Given the description of an element on the screen output the (x, y) to click on. 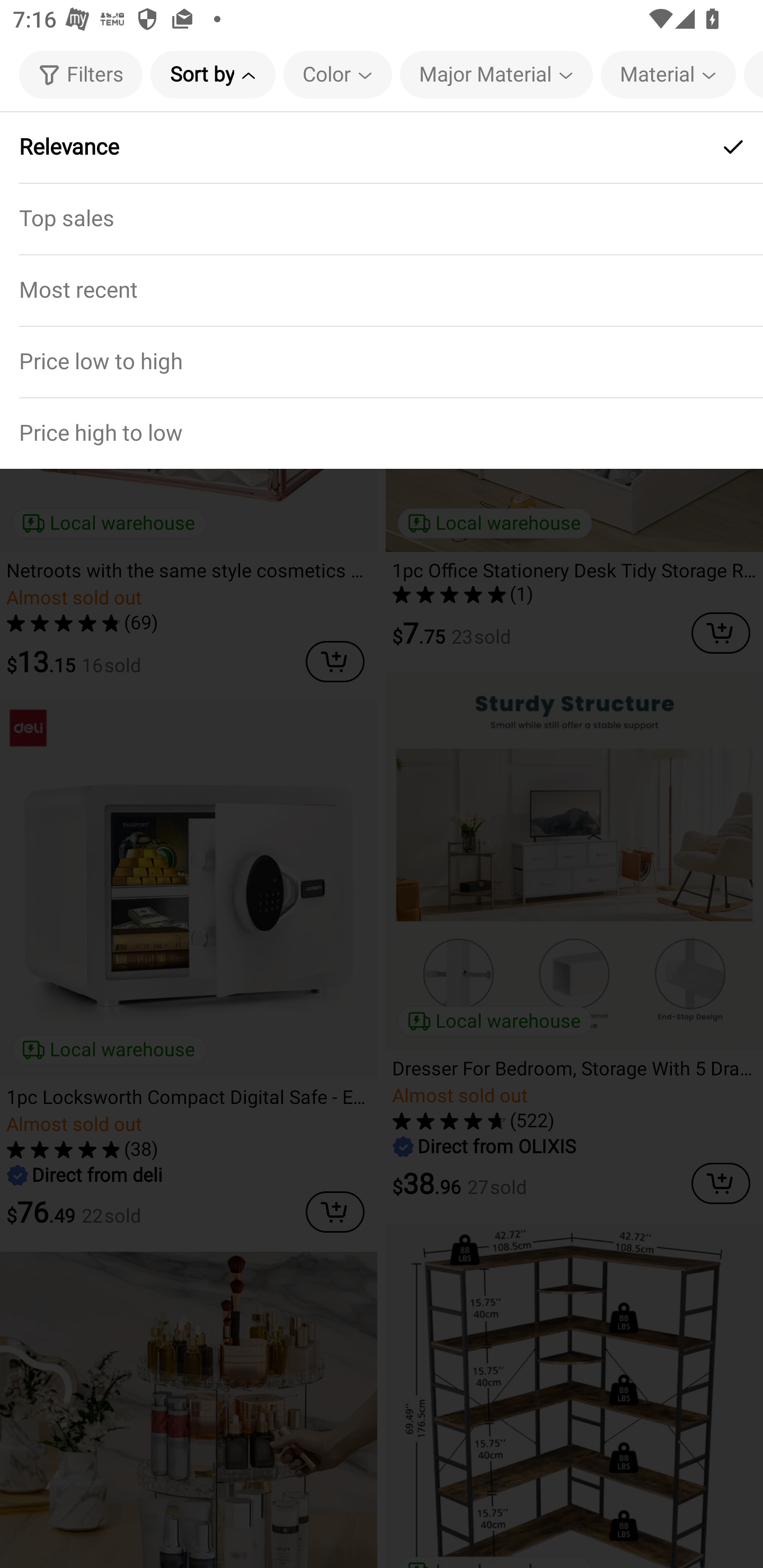
Filters (80, 74)
Sort by (212, 74)
Color (337, 74)
Major Material (495, 74)
Material (668, 74)
Relevance (381, 147)
Top sales (381, 218)
Most recent (381, 290)
Price low to high (381, 361)
Price high to low (381, 432)
